Given the description of an element on the screen output the (x, y) to click on. 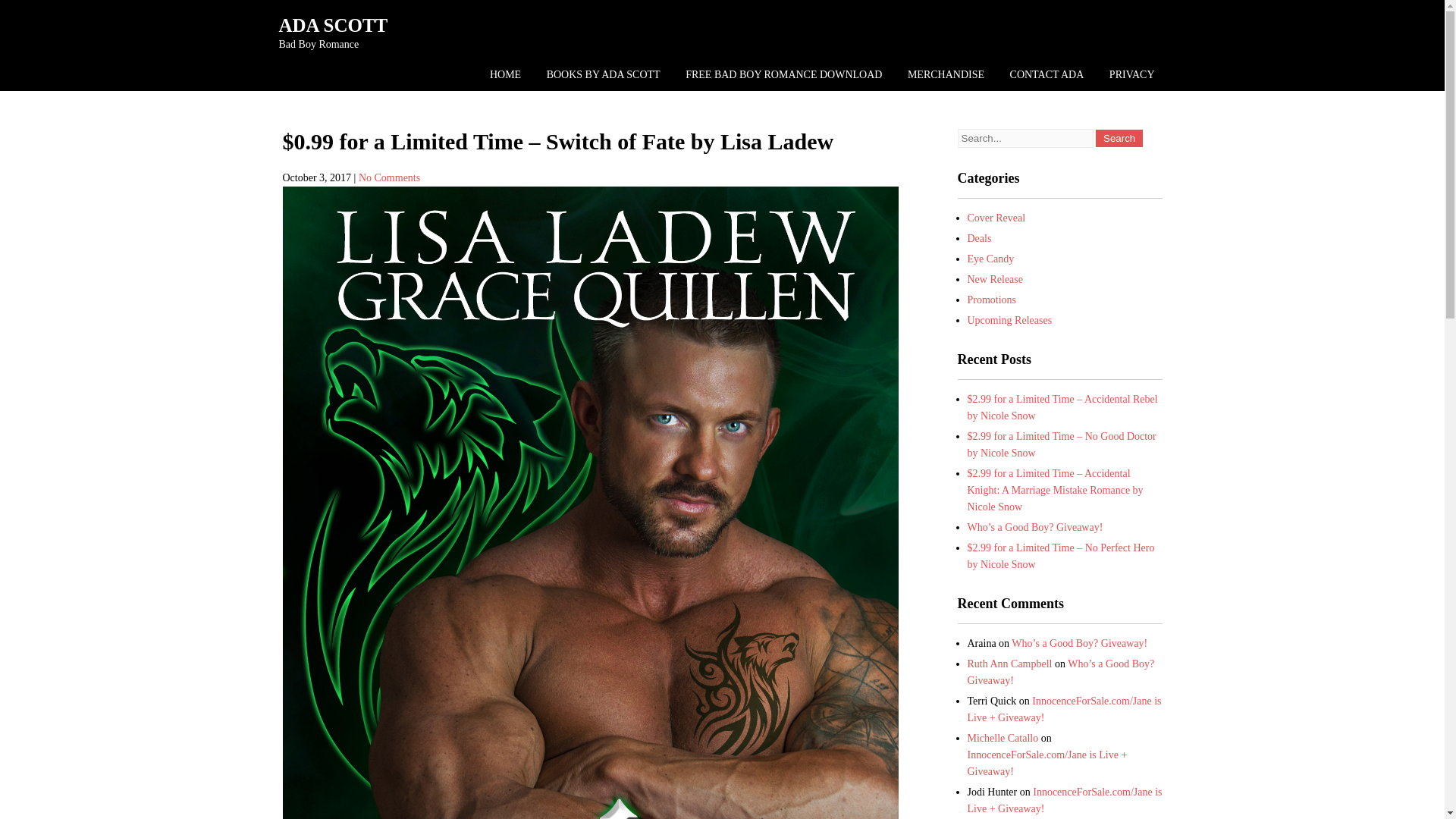
ADA SCOTT (333, 25)
Eye Candy (991, 258)
BOOKS BY ADA SCOTT (603, 74)
Upcoming Releases (1010, 319)
Ruth Ann Campbell (1010, 663)
MERCHANDISE (945, 74)
Search (1119, 138)
No Comments (389, 177)
Michelle Catallo (1003, 737)
Search (1119, 138)
FREE BAD BOY ROMANCE DOWNLOAD (783, 74)
Promotions (992, 299)
PRIVACY (1131, 74)
Cover Reveal (997, 217)
Search (1119, 138)
